Given the description of an element on the screen output the (x, y) to click on. 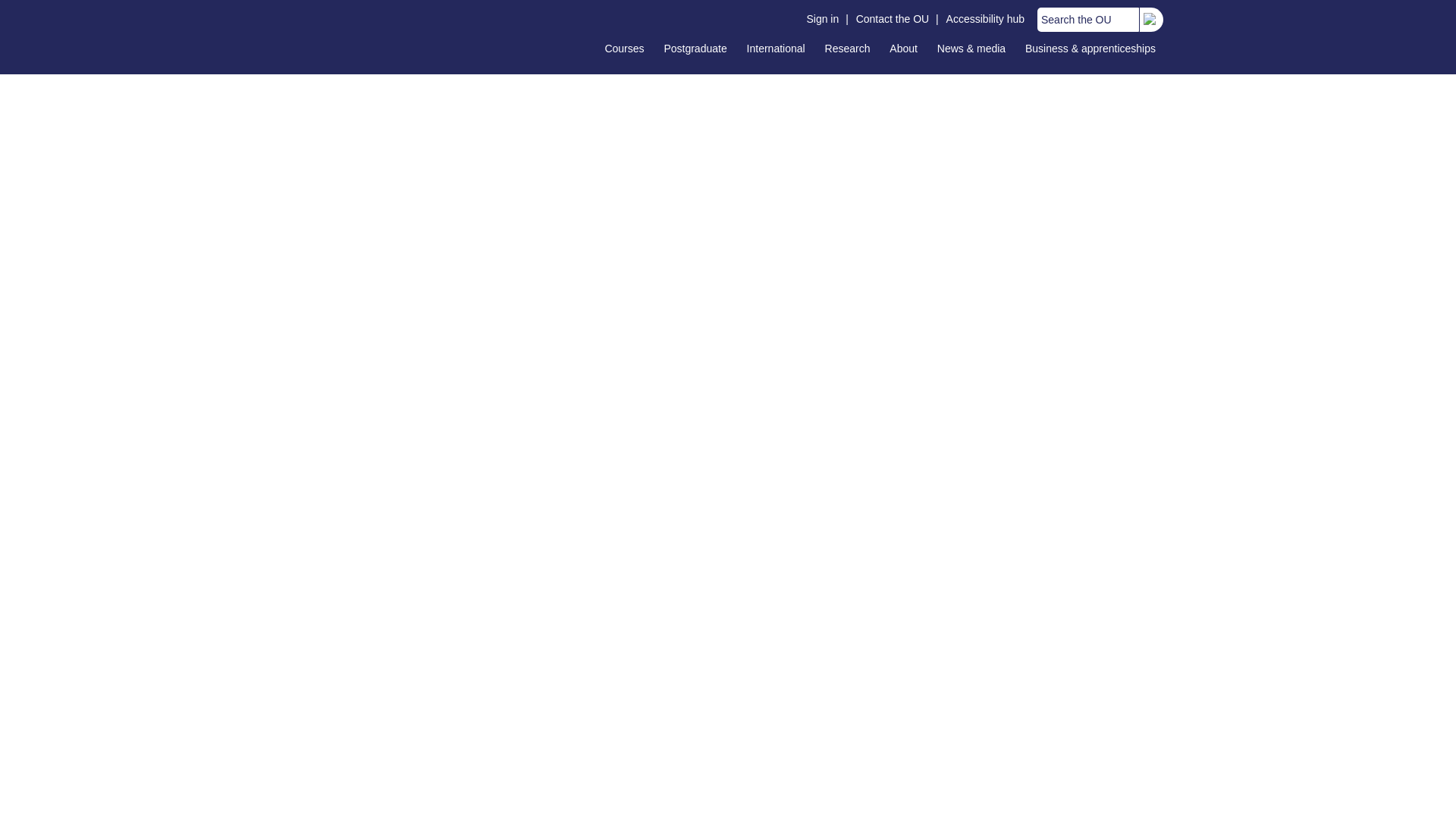
Search (1149, 19)
Search (1159, 24)
International (775, 48)
The Open University (360, 36)
Sign in (822, 19)
Courses (623, 48)
Accessibility hub (985, 19)
Contact the OU (892, 19)
Postgraduate (695, 48)
Research (847, 48)
About (903, 48)
